Given the description of an element on the screen output the (x, y) to click on. 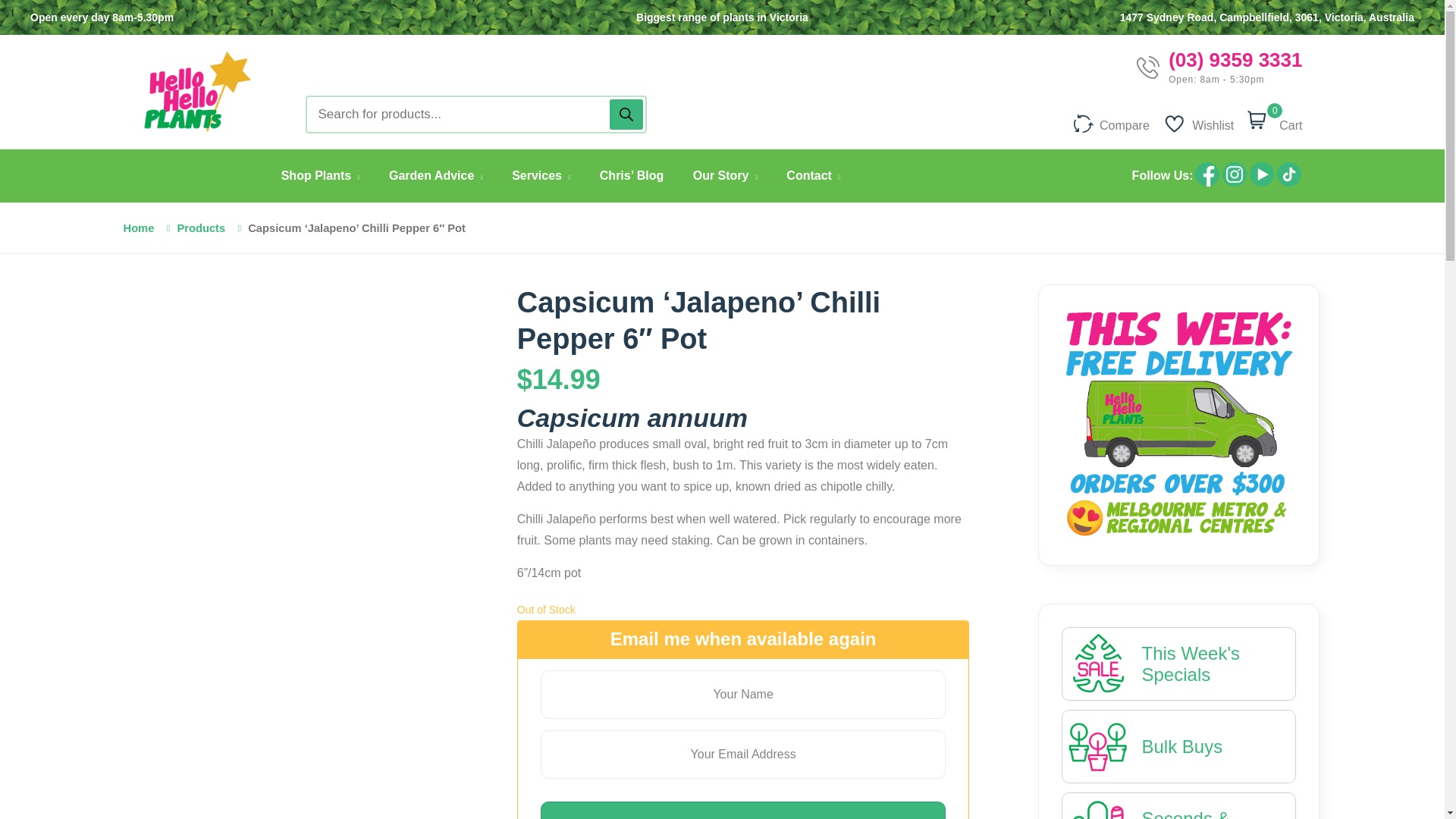
Cart (1287, 121)
youtube (1261, 174)
facebook (1207, 174)
0 (1260, 120)
youtube (1261, 183)
Compare (1112, 121)
facebook (1207, 183)
Wishlist (1198, 121)
Sign Up Now (743, 810)
Shop Plants (320, 175)
